Given the description of an element on the screen output the (x, y) to click on. 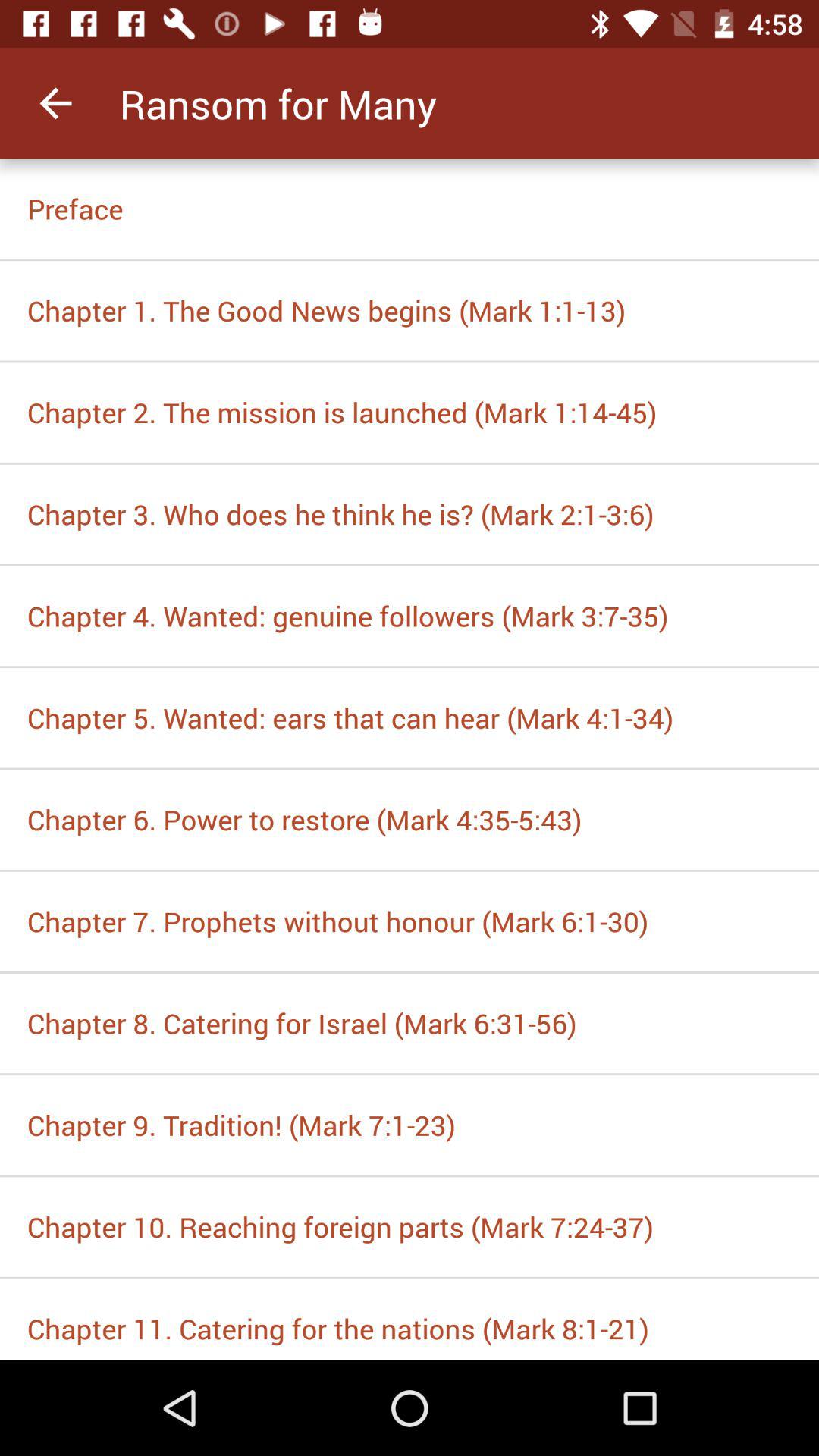
turn on item to the left of ransom for many app (55, 103)
